Given the description of an element on the screen output the (x, y) to click on. 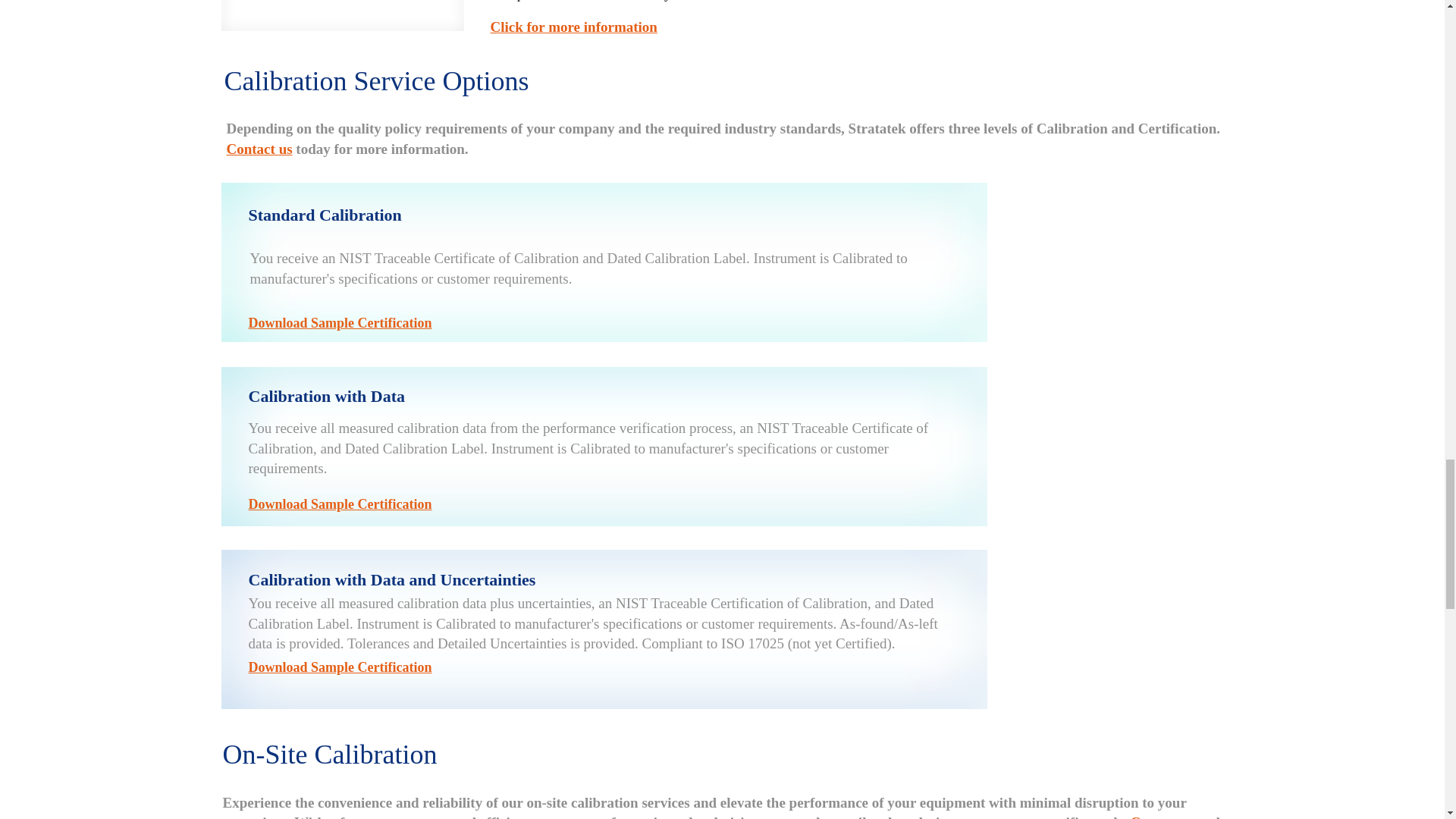
Laboratory Standards Calibration and Repair (342, 15)
